Given the description of an element on the screen output the (x, y) to click on. 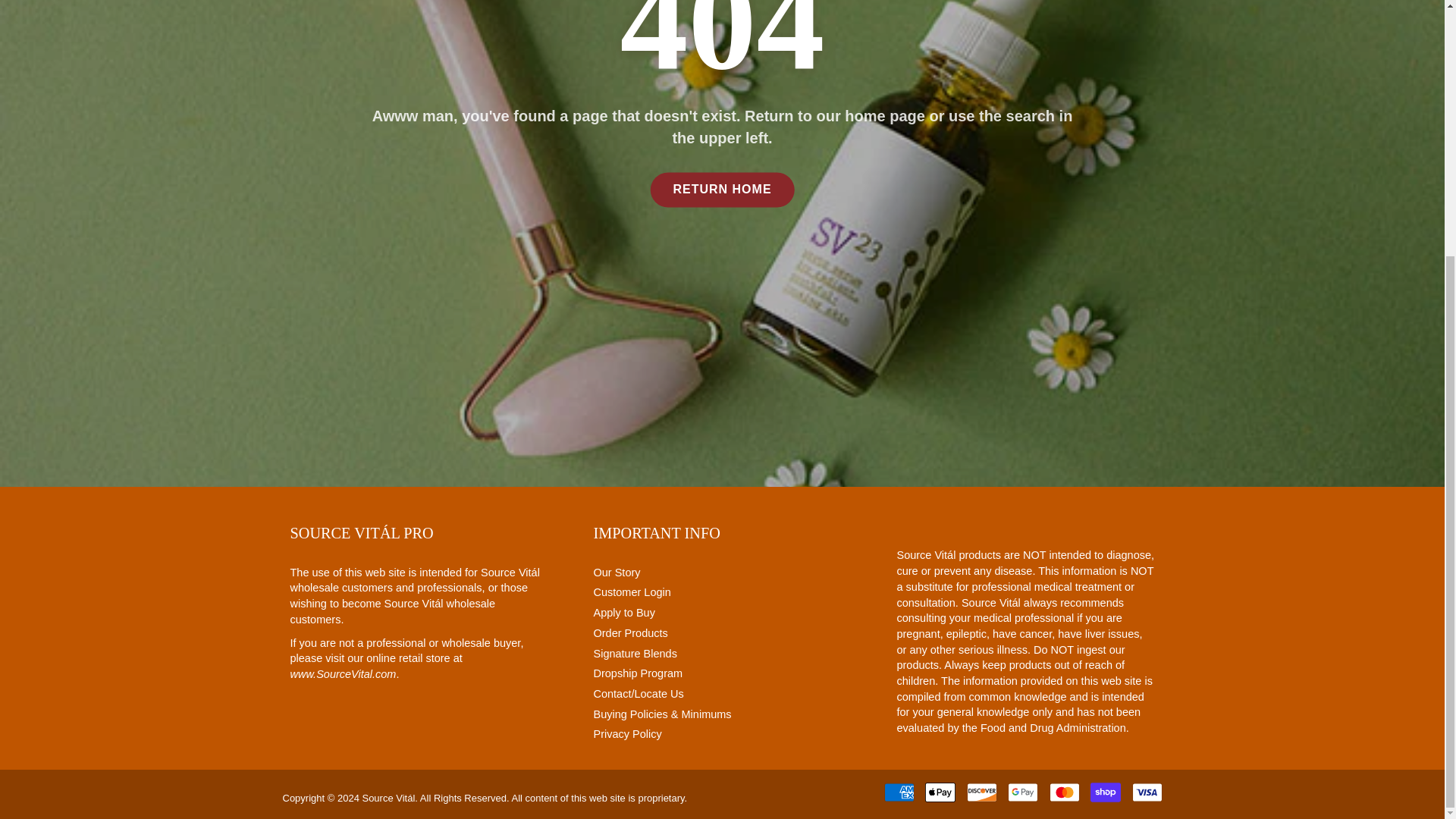
Google Pay (1022, 792)
Mastercard (1064, 792)
Visa (1146, 792)
Apple Pay (939, 792)
Shop Pay (1105, 792)
Discover (981, 792)
American Express (898, 792)
